Given the description of an element on the screen output the (x, y) to click on. 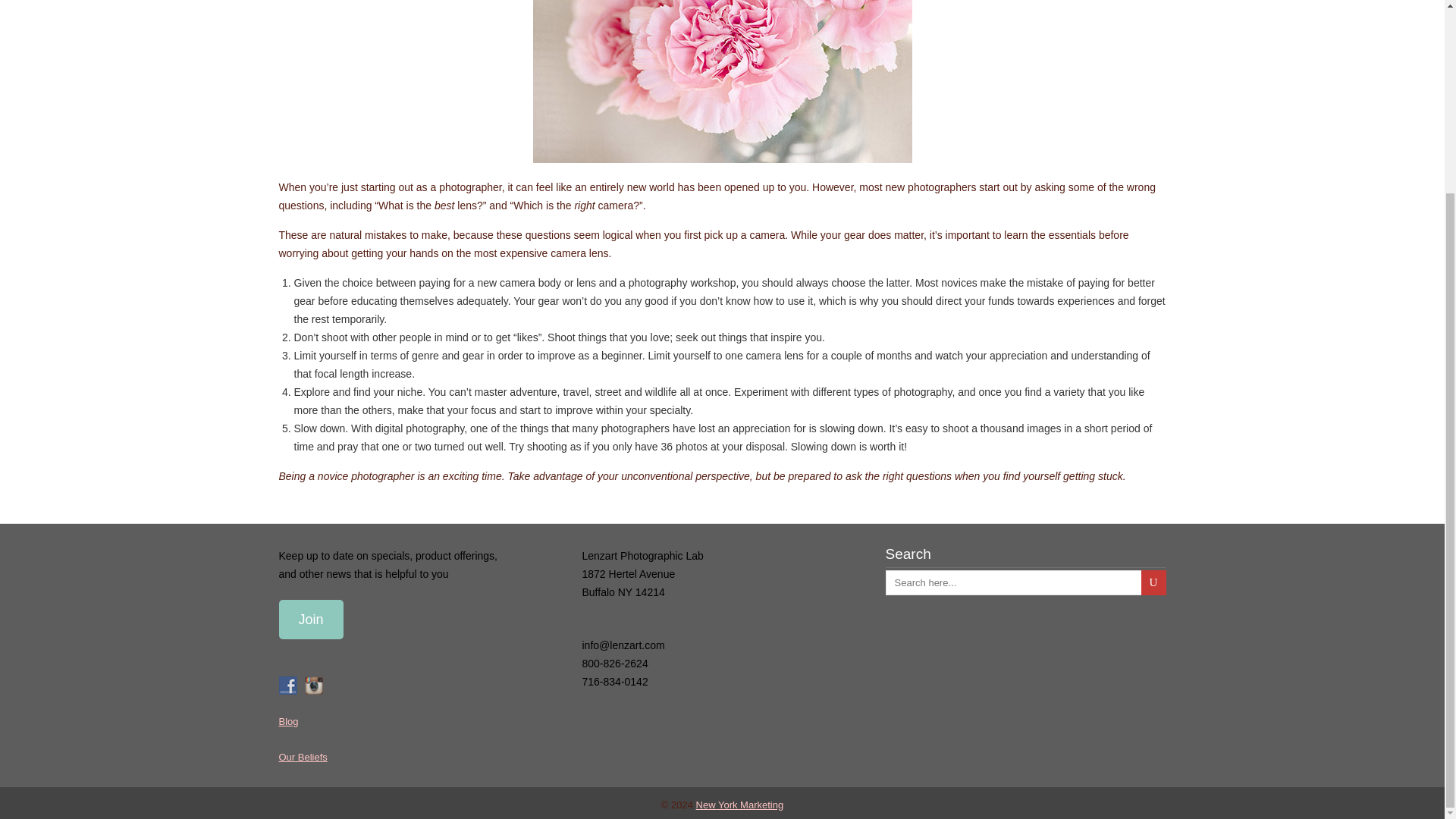
Follow Us on Facebook (288, 684)
U (1153, 582)
U (1153, 582)
